Given the description of an element on the screen output the (x, y) to click on. 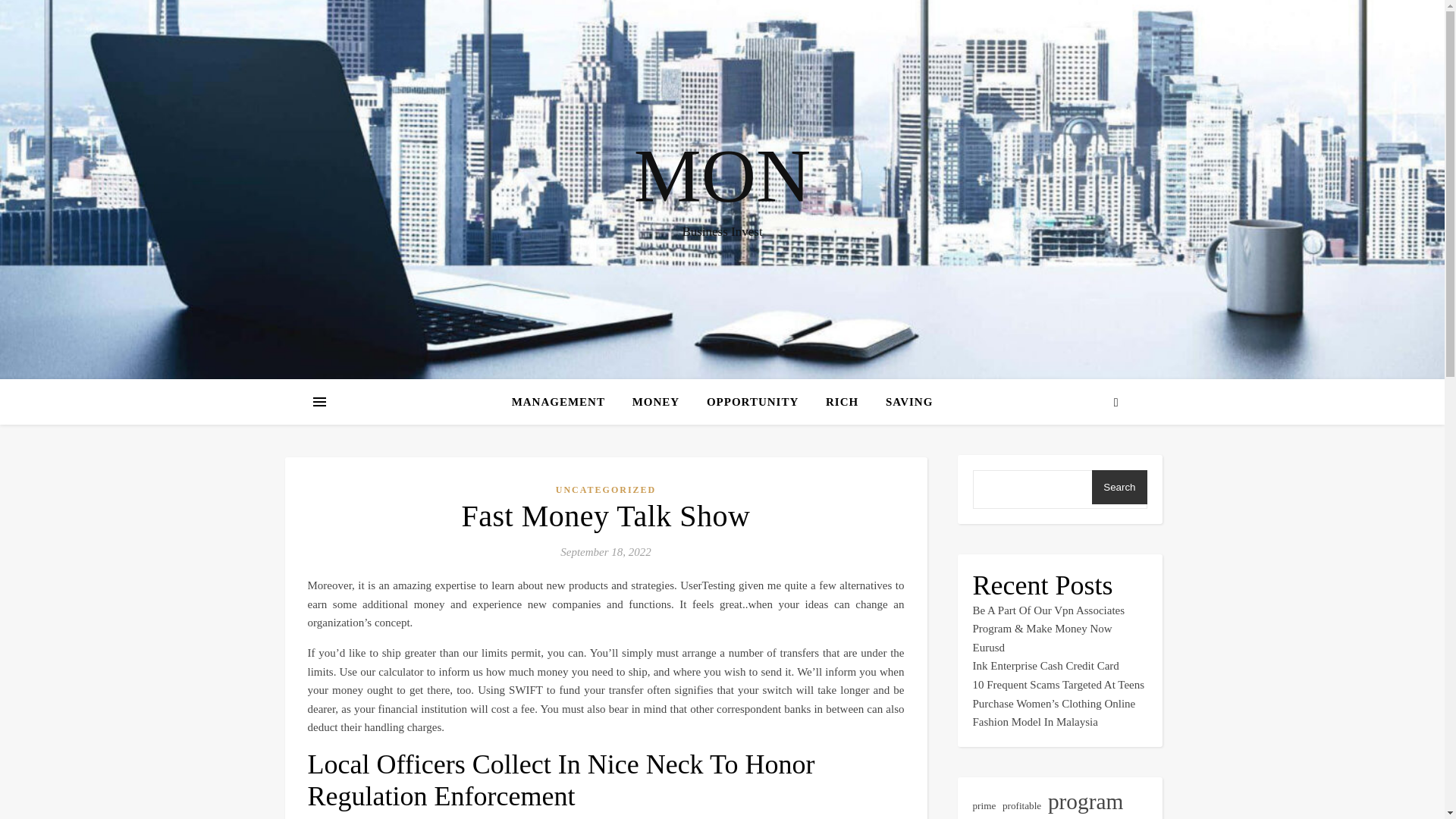
property (1035, 816)
Eurusd (988, 647)
proper (987, 817)
Ink Enterprise Cash Credit Card (1045, 665)
OPPORTUNITY (752, 402)
Search (1119, 487)
MONEY (656, 402)
RICH (841, 402)
SAVING (903, 402)
profitable (1022, 805)
10 Frequent Scams Targeted At Teens (1058, 684)
prime (983, 805)
MANAGEMENT (564, 402)
UNCATEGORIZED (606, 489)
